Given the description of an element on the screen output the (x, y) to click on. 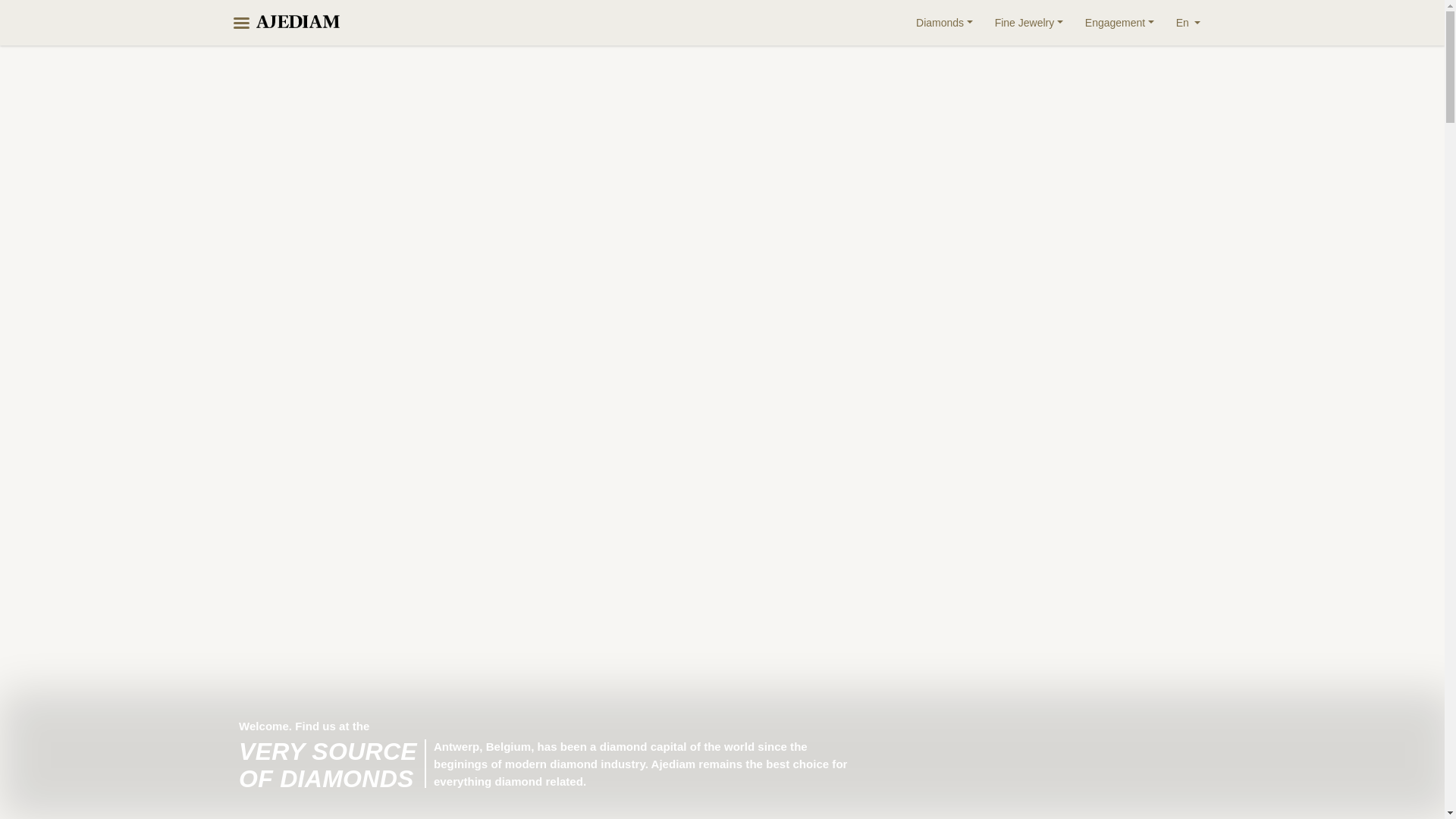
Diamonds (943, 23)
